Given the description of an element on the screen output the (x, y) to click on. 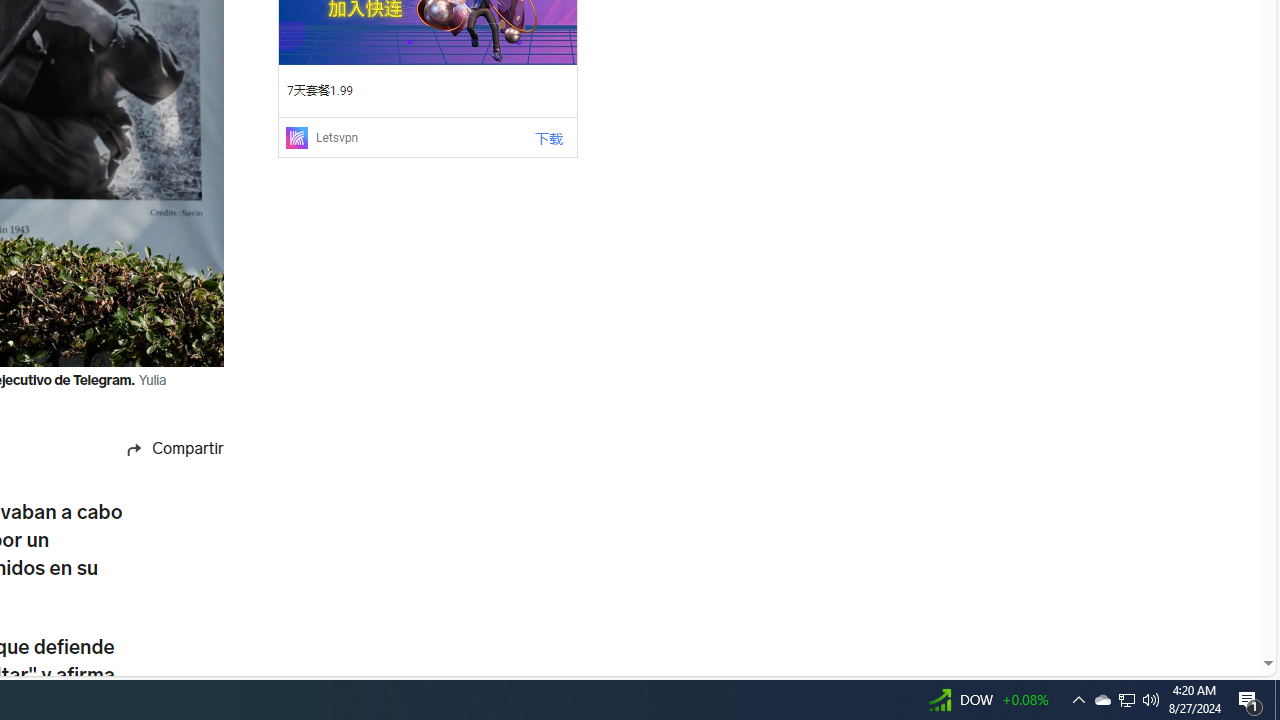
Linkedin (153, 635)
Telegram (153, 673)
Letsvpn (336, 137)
Flipboard (153, 520)
Whatsapp (153, 558)
Facebook (153, 481)
Share icon (134, 448)
Share icon Compartir (153, 449)
Twitter (153, 596)
